Given the description of an element on the screen output the (x, y) to click on. 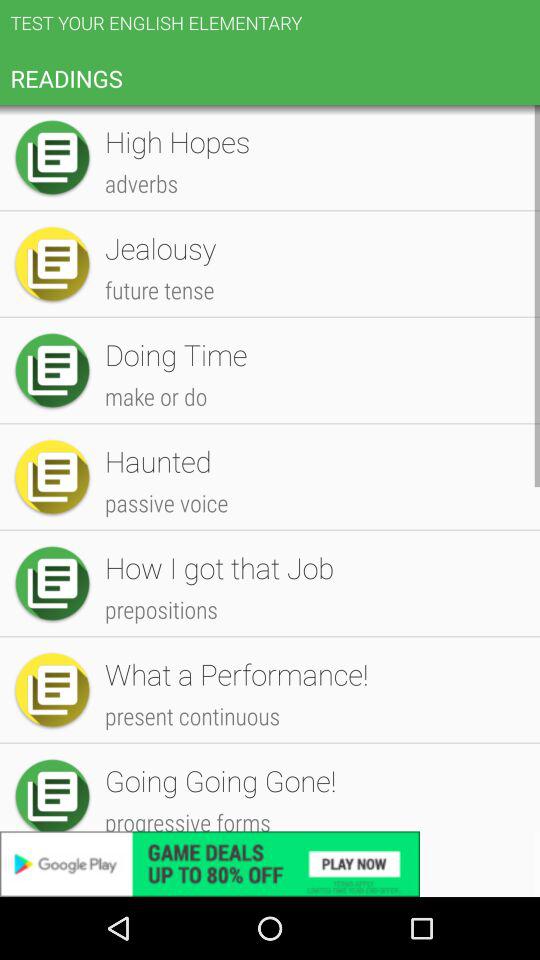
turn on the icon above help (311, 785)
